Given the description of an element on the screen output the (x, y) to click on. 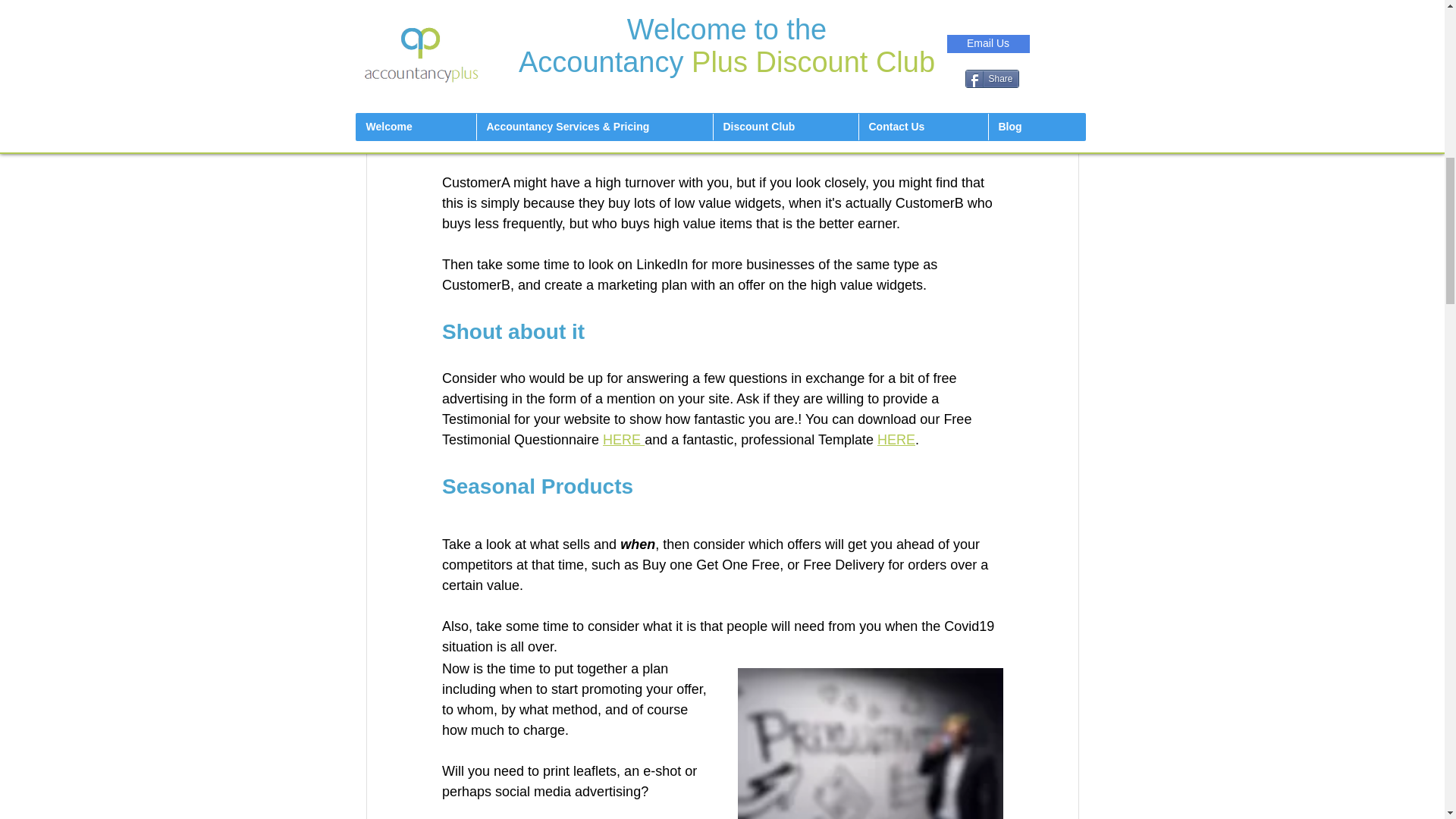
HERE (895, 439)
HERE  (623, 439)
